Given the description of an element on the screen output the (x, y) to click on. 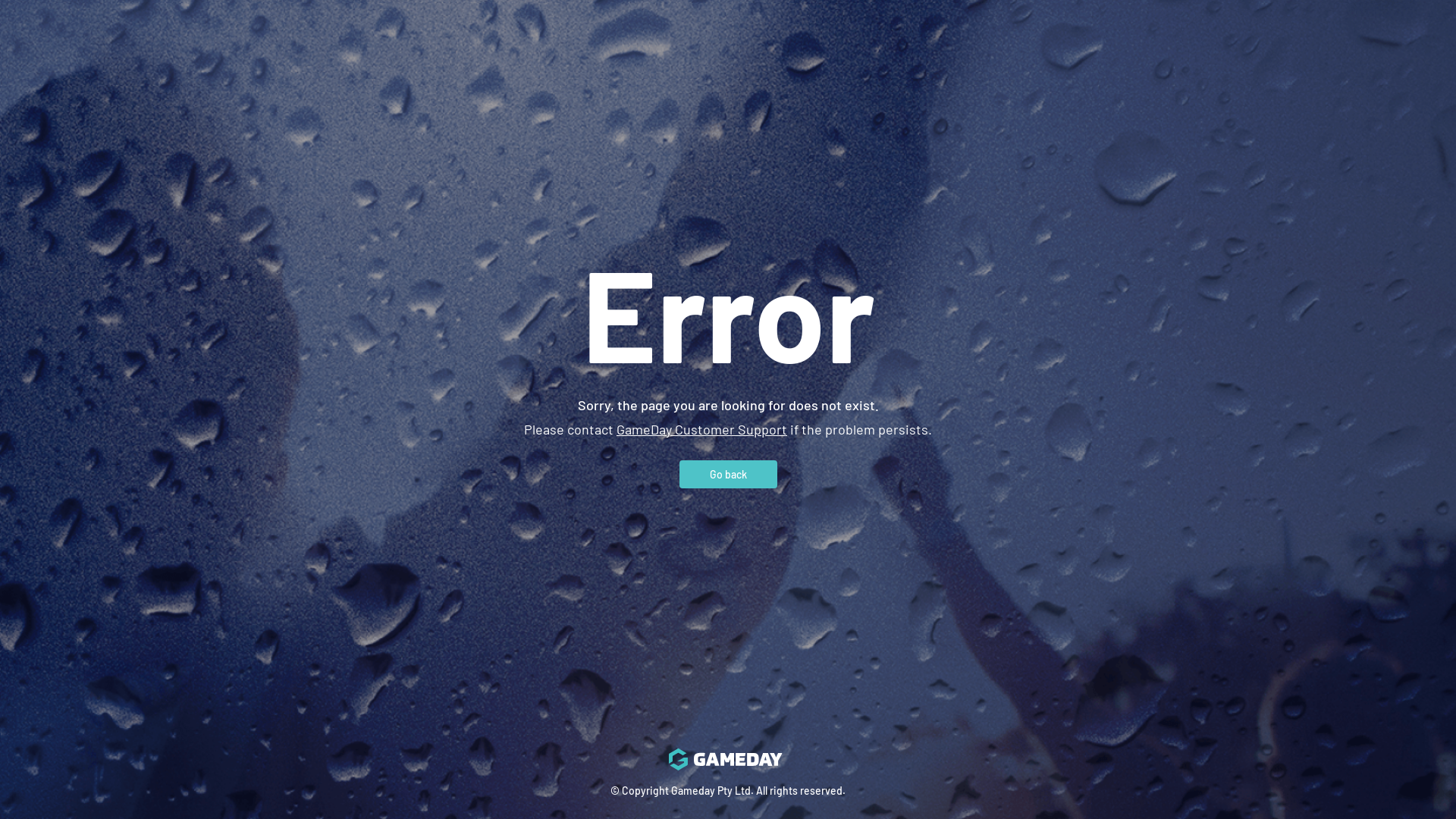
GameDay Customer Support Element type: text (701, 428)
Go back Element type: text (728, 473)
